Given the description of an element on the screen output the (x, y) to click on. 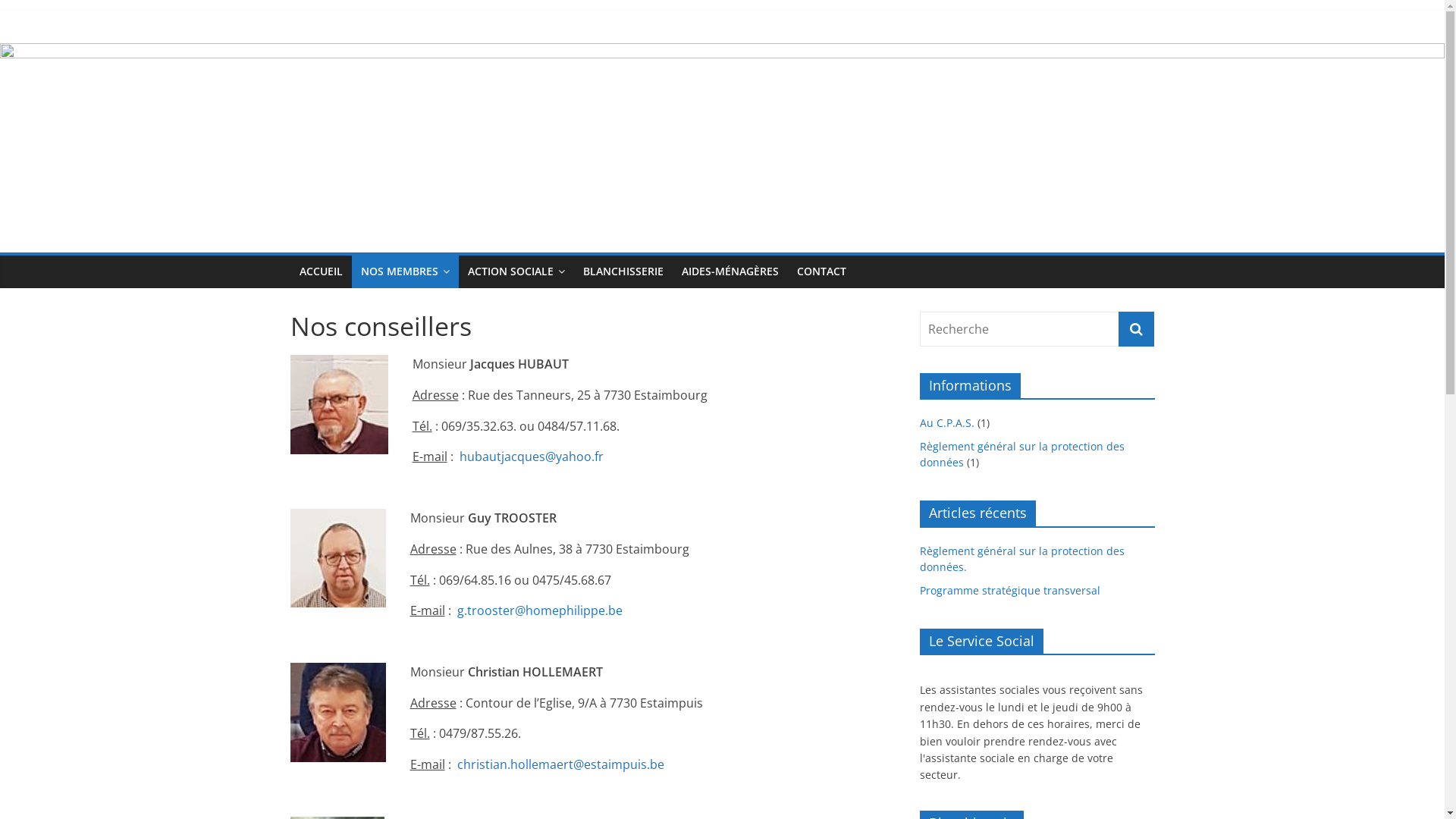
Au C.P.A.S. Element type: text (946, 422)
CONTACT Element type: text (820, 271)
g.trooster@homephilippe.be Element type: text (538, 610)
NOS MEMBRES Element type: text (404, 271)
ACCUEIL Element type: text (320, 271)
ACTION SOCIALE Element type: text (515, 271)
hubautjacques@yahoo.fr Element type: text (531, 456)
BLANCHISSERIE Element type: text (622, 271)
christian.hollemaert@estaimpuis.be Element type: text (559, 764)
